Given the description of an element on the screen output the (x, y) to click on. 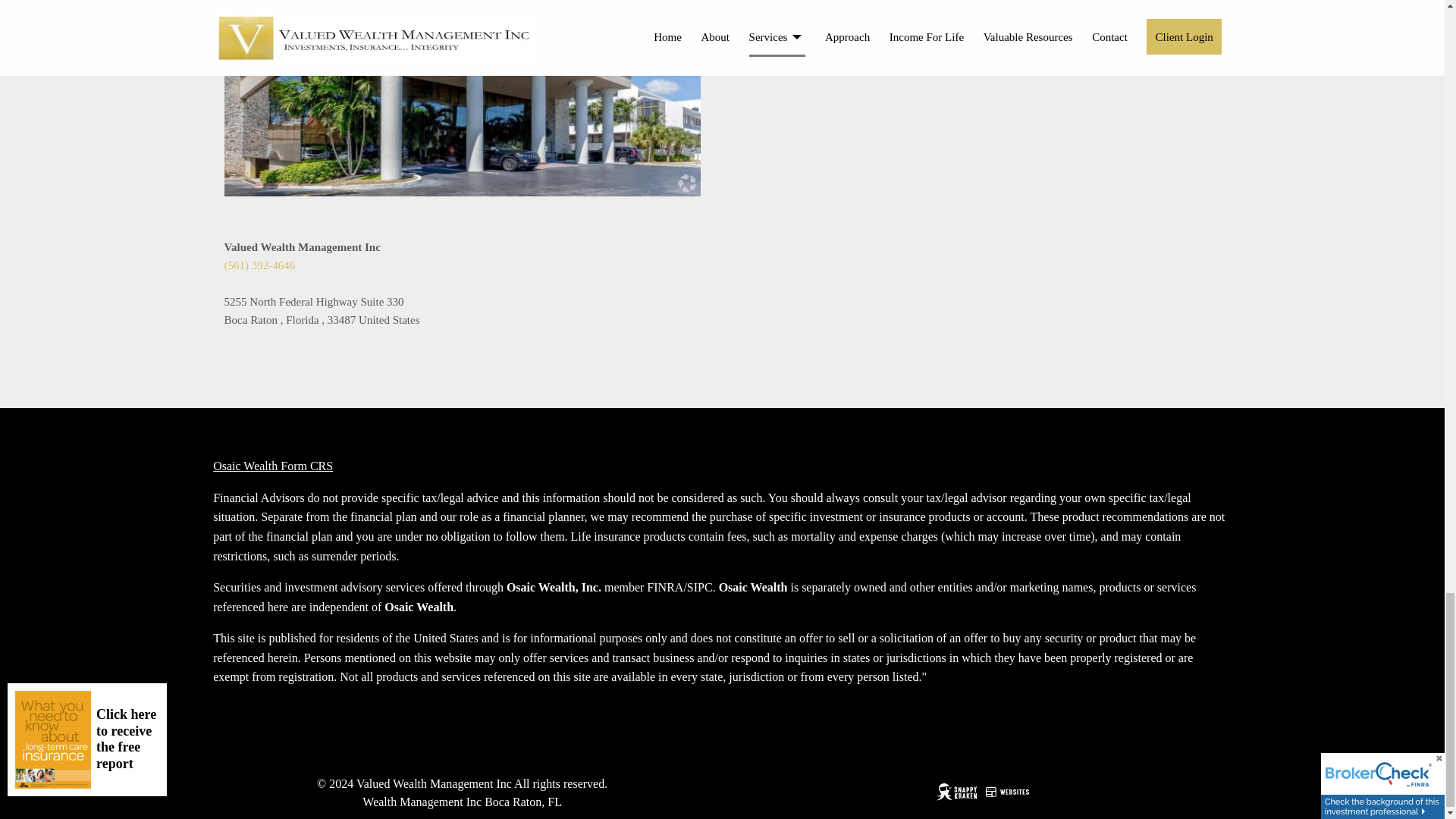
SIPC (700, 586)
Osaic Wealth Form CRS (272, 465)
Osaic Wealth Form CRS (272, 465)
FINRA (664, 586)
